Given the description of an element on the screen output the (x, y) to click on. 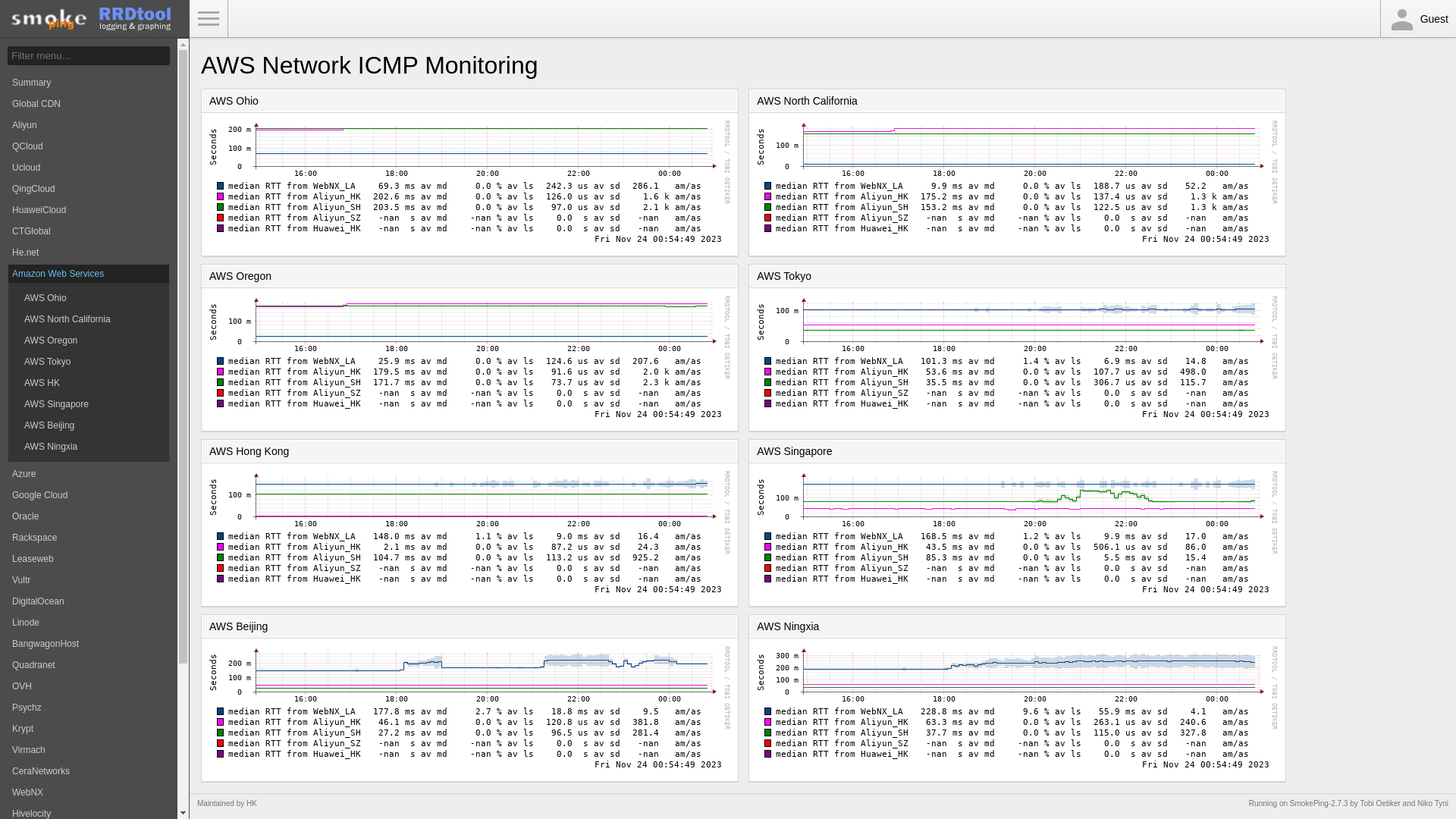
HK Element type: text (251, 803)
OVH Element type: text (88, 686)
QingCloud Element type: text (88, 188)
He.net Element type: text (88, 252)
Azure Element type: text (88, 473)
Psychz Element type: text (88, 707)
Rackspace Element type: text (88, 537)
WebNX Element type: text (88, 792)
AWS Singapore Element type: text (88, 404)
Summary Element type: text (88, 82)
QCloud Element type: text (88, 146)
Virmach Element type: text (88, 749)
Aliyun Element type: text (88, 125)
CeraNetworks Element type: text (88, 771)
AWS Beijing Element type: text (88, 425)
Amazon Web Services Element type: text (88, 273)
AWS Oregon Element type: text (88, 340)
AWS Ningxia Element type: text (88, 446)
AWS North California Element type: text (88, 319)
DigitalOcean Element type: text (88, 601)
AWS Ohio Element type: text (88, 297)
AWS HK Element type: text (88, 382)
Vultr Element type: text (88, 580)
Global CDN Element type: text (88, 103)
Toggle Menu Element type: text (208, 18)
Ucloud Element type: text (88, 167)
SmokePing-2.7.3 Element type: text (1318, 803)
AWS Tokyo Element type: text (88, 361)
CTGlobal Element type: text (88, 231)
Leaseweb Element type: text (88, 558)
Google Cloud Element type: text (88, 495)
HuaweiCloud Element type: text (88, 209)
Krypt Element type: text (88, 728)
Oracle Element type: text (88, 516)
Tobi Oetiker Element type: text (1379, 803)
Quadranet Element type: text (88, 664)
BangwagonHost Element type: text (88, 643)
Linode Element type: text (88, 622)
